Given the description of an element on the screen output the (x, y) to click on. 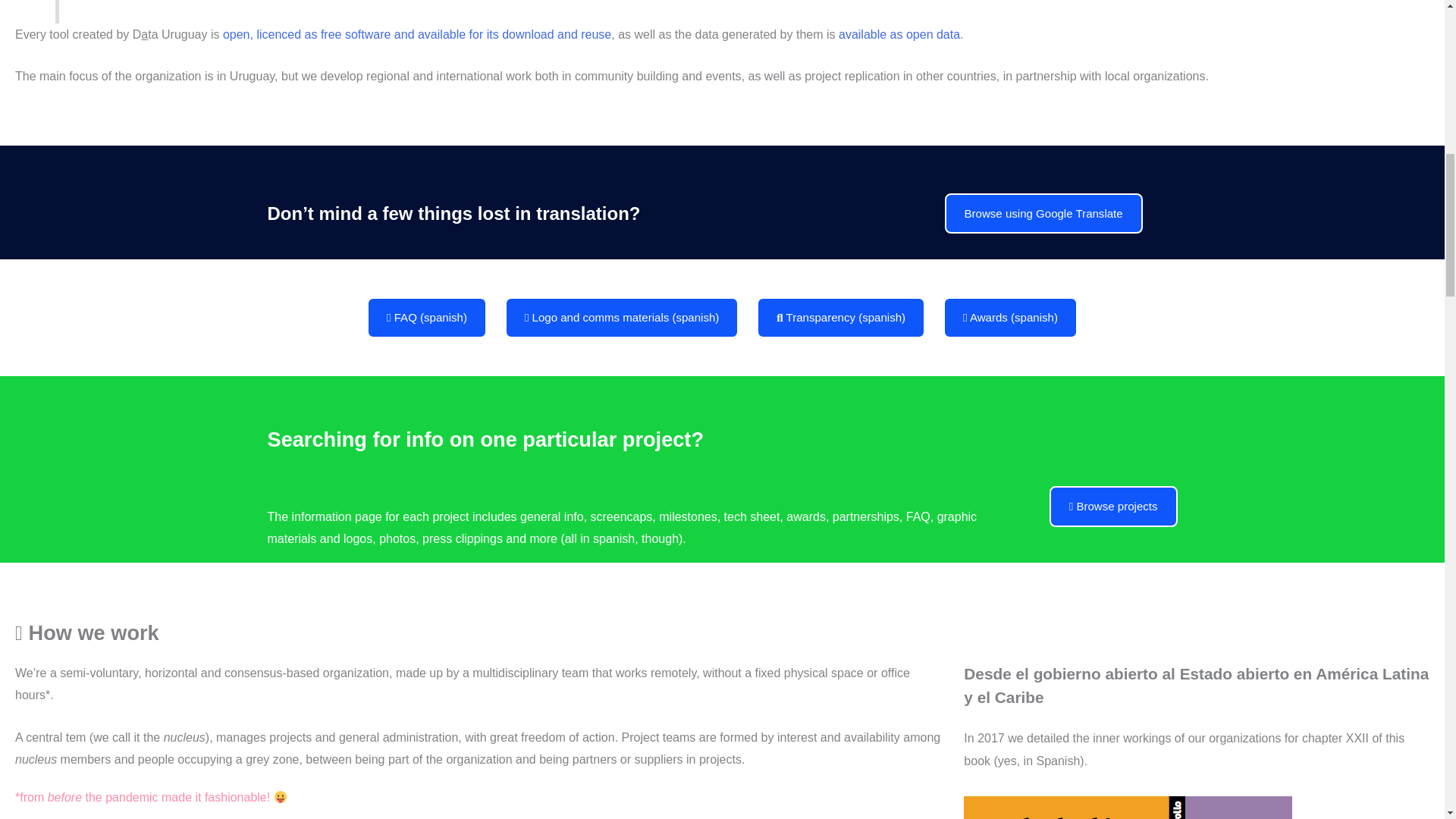
available as open data (898, 33)
Browse projects (1113, 506)
Browse using Google Translate (1043, 213)
